Given the description of an element on the screen output the (x, y) to click on. 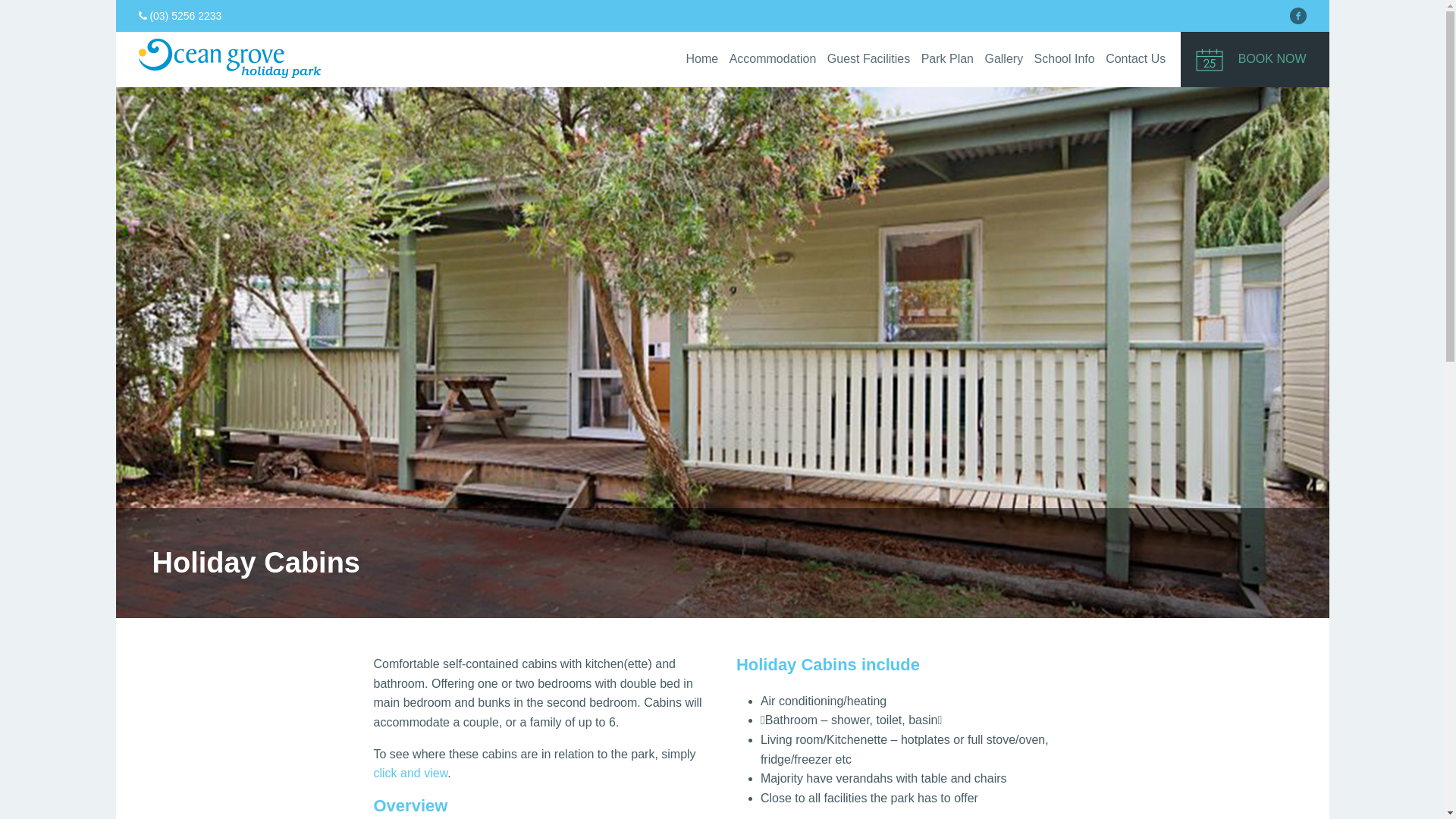
Home Element type: text (702, 58)
School Info Element type: text (1064, 58)
Park Plan Element type: text (947, 58)
Contact Us Element type: text (1135, 58)
Guest Facilities Element type: text (868, 58)
Accommodation Element type: text (772, 58)
facebook Element type: text (1297, 15)
Go to Home Element type: hover (229, 76)
BOOK NOW Element type: text (1254, 59)
Gallery Element type: text (1003, 58)
click and view Element type: text (410, 772)
